Given the description of an element on the screen output the (x, y) to click on. 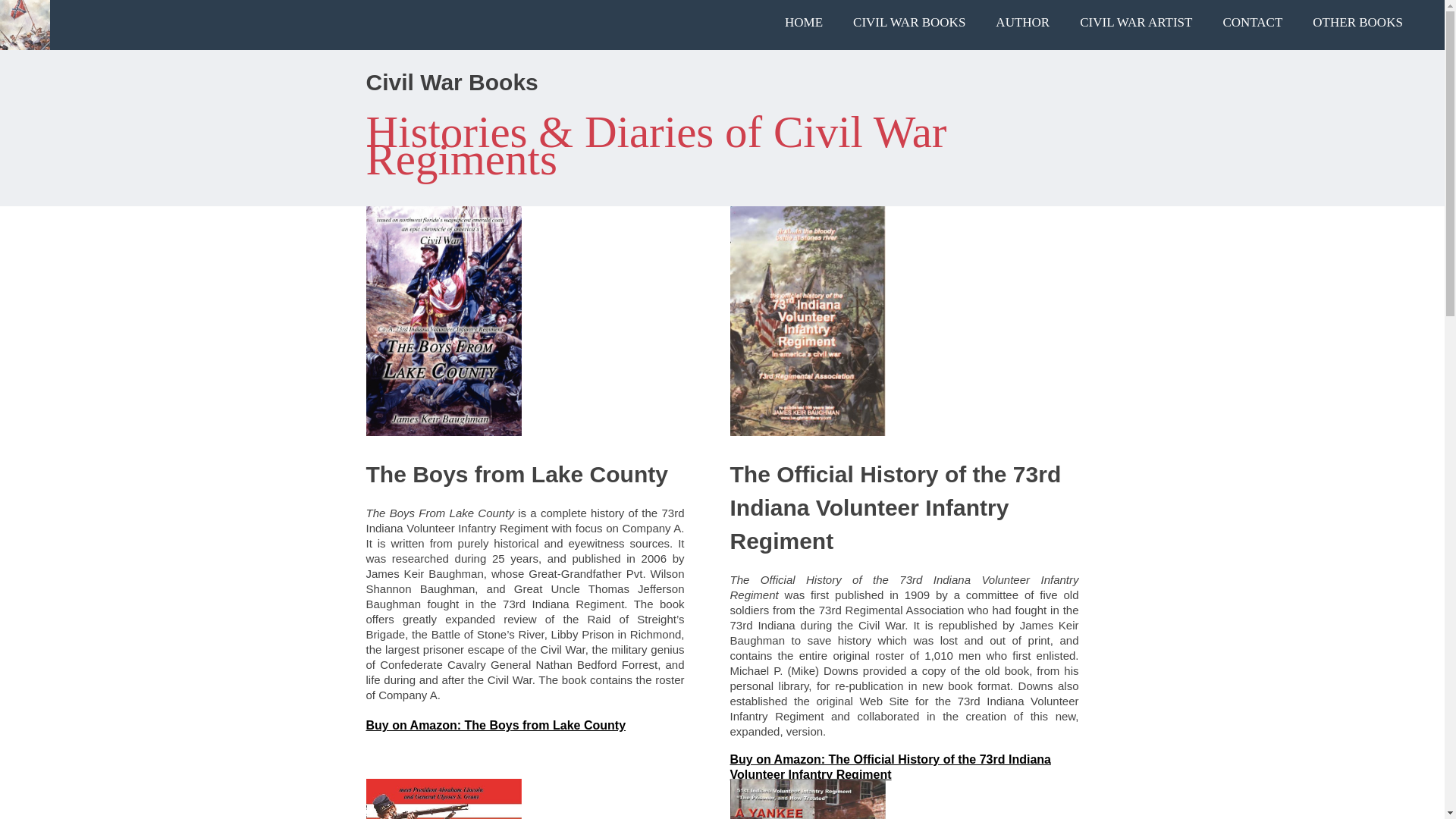
HOME (804, 22)
OTHER BOOKS (1357, 22)
CIVIL WAR BOOKS (908, 22)
CONTACT (1252, 22)
AUTHOR (1021, 22)
Buy on Amazon: The Boys from Lake County (495, 725)
CIVIL WAR ARTIST (1135, 22)
